Given the description of an element on the screen output the (x, y) to click on. 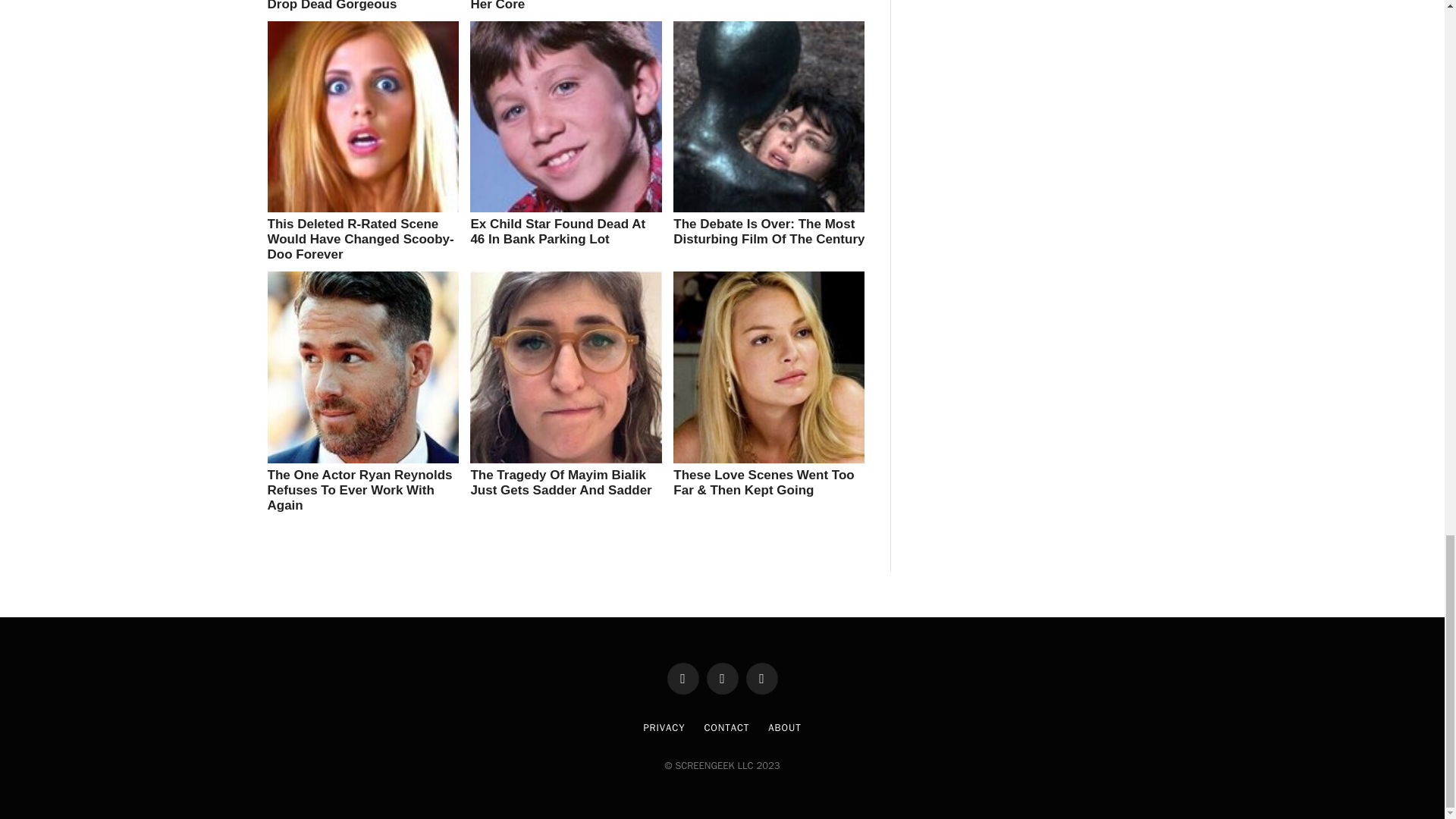
The Graphic Scene Sydney Sweeney Regrets Filming To Her Core (557, 5)
Ex Child Star Found Dead At 46 In Bank Parking Lot (557, 231)
